Given the description of an element on the screen output the (x, y) to click on. 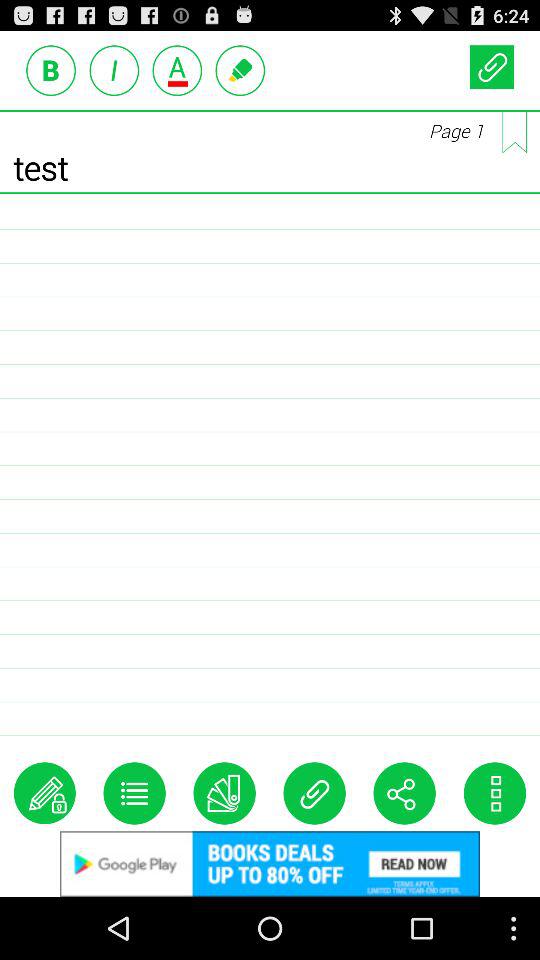
toggle the advertisement option (177, 70)
